Given the description of an element on the screen output the (x, y) to click on. 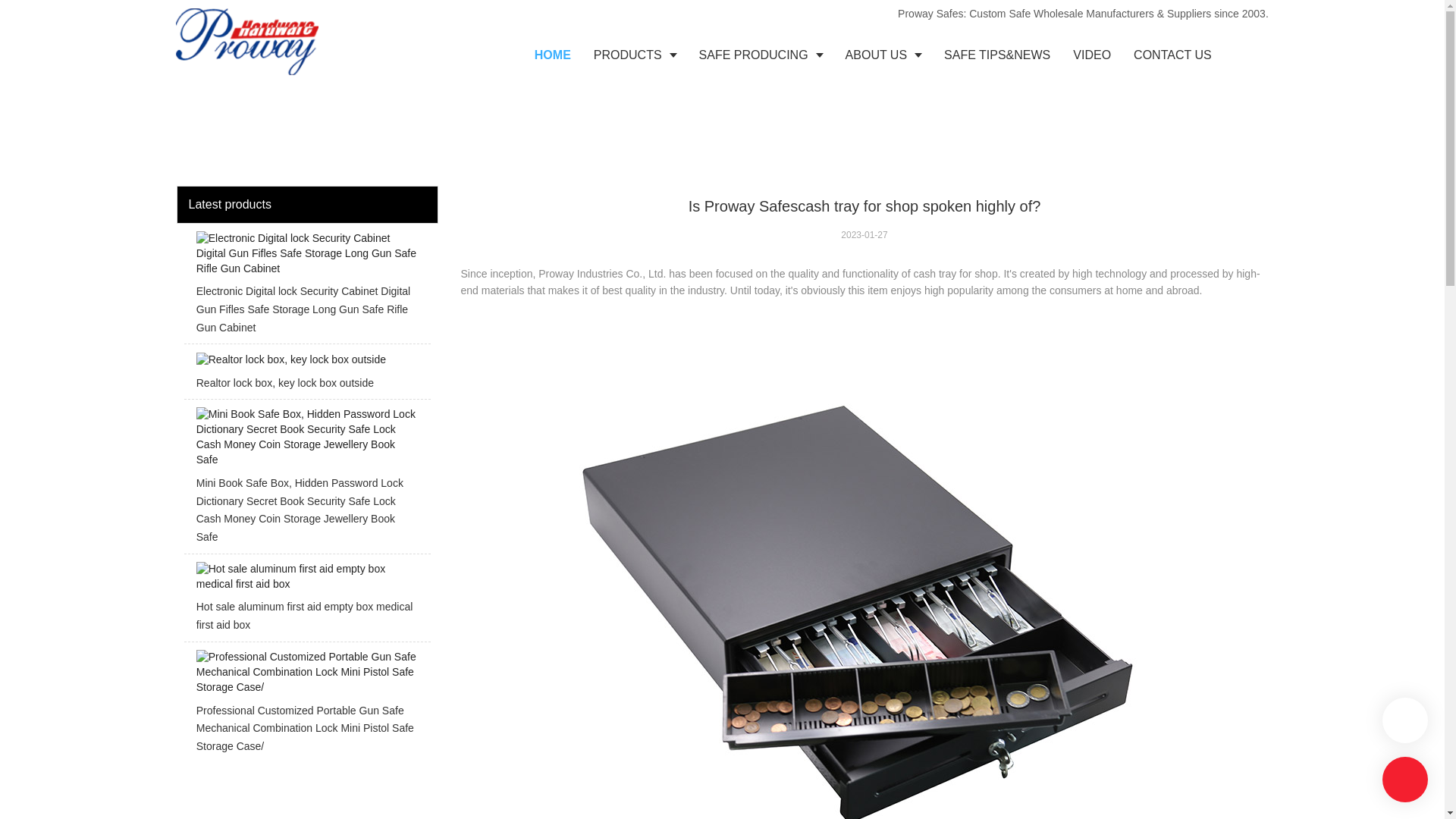
ABOUT US (883, 55)
SAFE PRODUCING (760, 55)
Hot sale aluminum first aid empty box medical first aid box (306, 601)
VIDEO (1091, 55)
PRODUCTS (634, 55)
CONTACT US (1172, 55)
HOME (552, 55)
Realtor lock box, key lock box outside (306, 375)
